Given the description of an element on the screen output the (x, y) to click on. 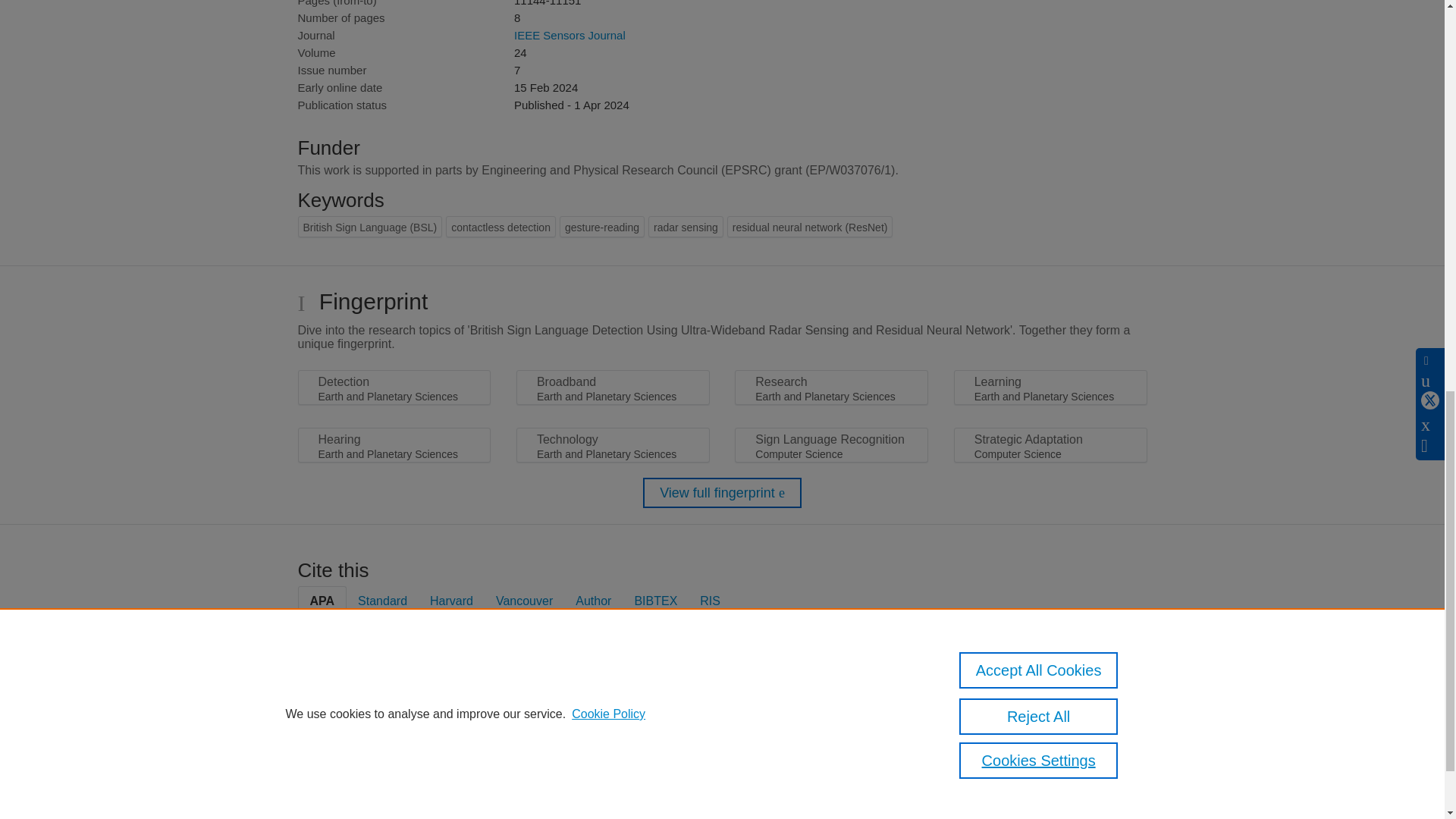
View full fingerprint (722, 492)
IEEE Sensors Journal (569, 34)
